Given the description of an element on the screen output the (x, y) to click on. 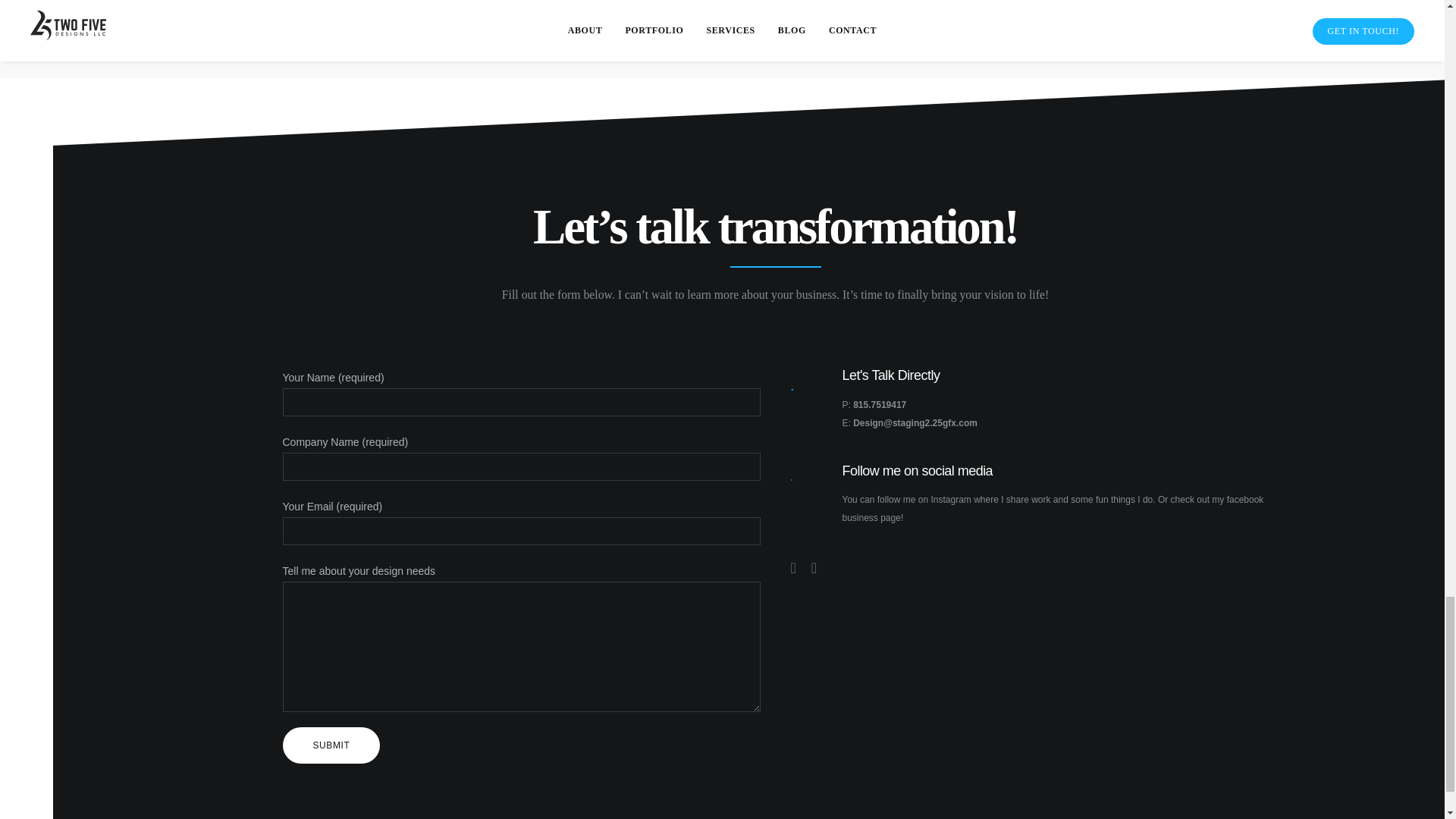
Pace Precision Lawn Care (1020, 38)
Submit (331, 745)
The Junk Removal Dudes (423, 38)
Submit (331, 745)
